Given the description of an element on the screen output the (x, y) to click on. 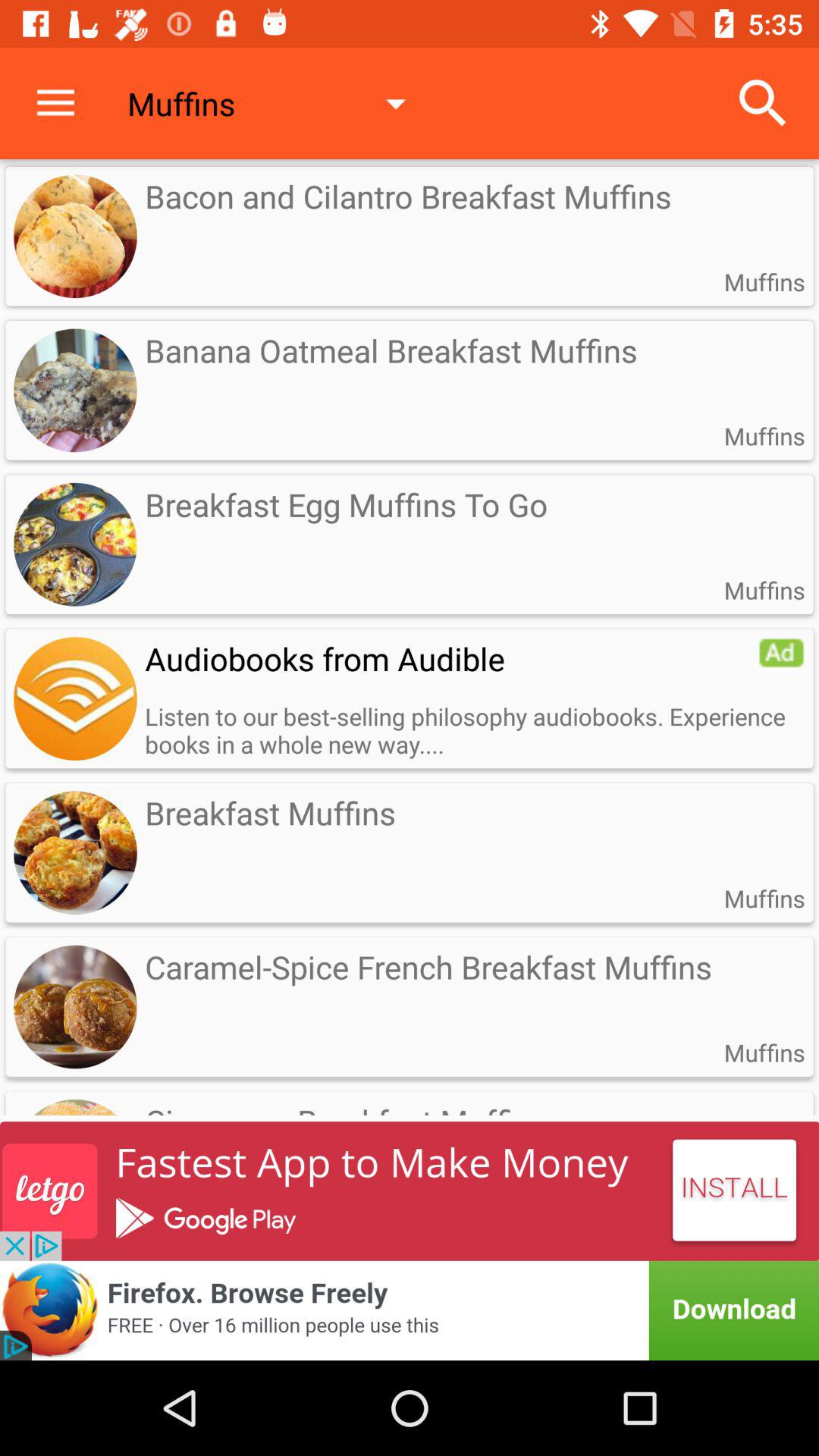
advertisement (75, 698)
